Given the description of an element on the screen output the (x, y) to click on. 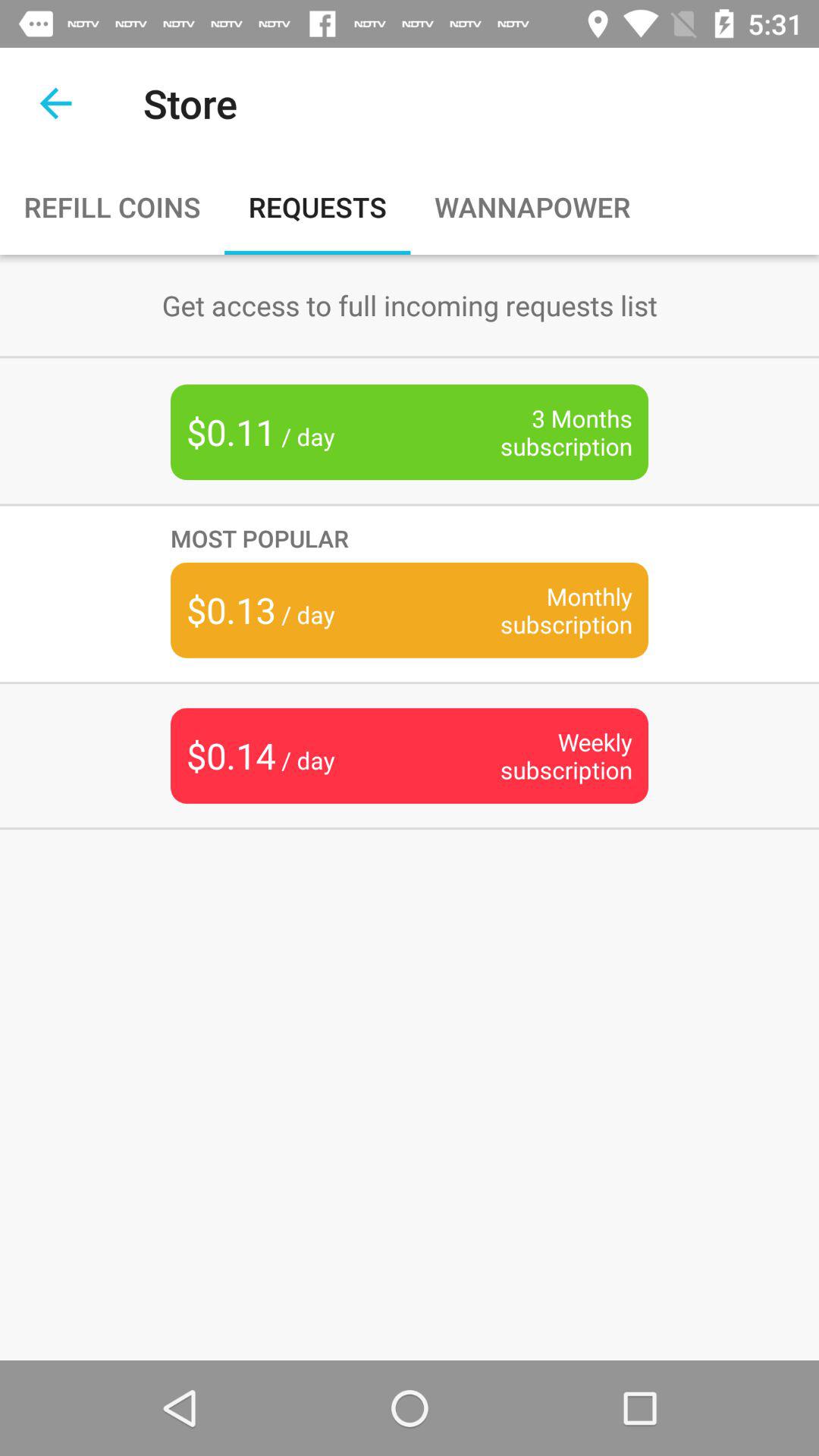
open the monthly subscription item (543, 610)
